Given the description of an element on the screen output the (x, y) to click on. 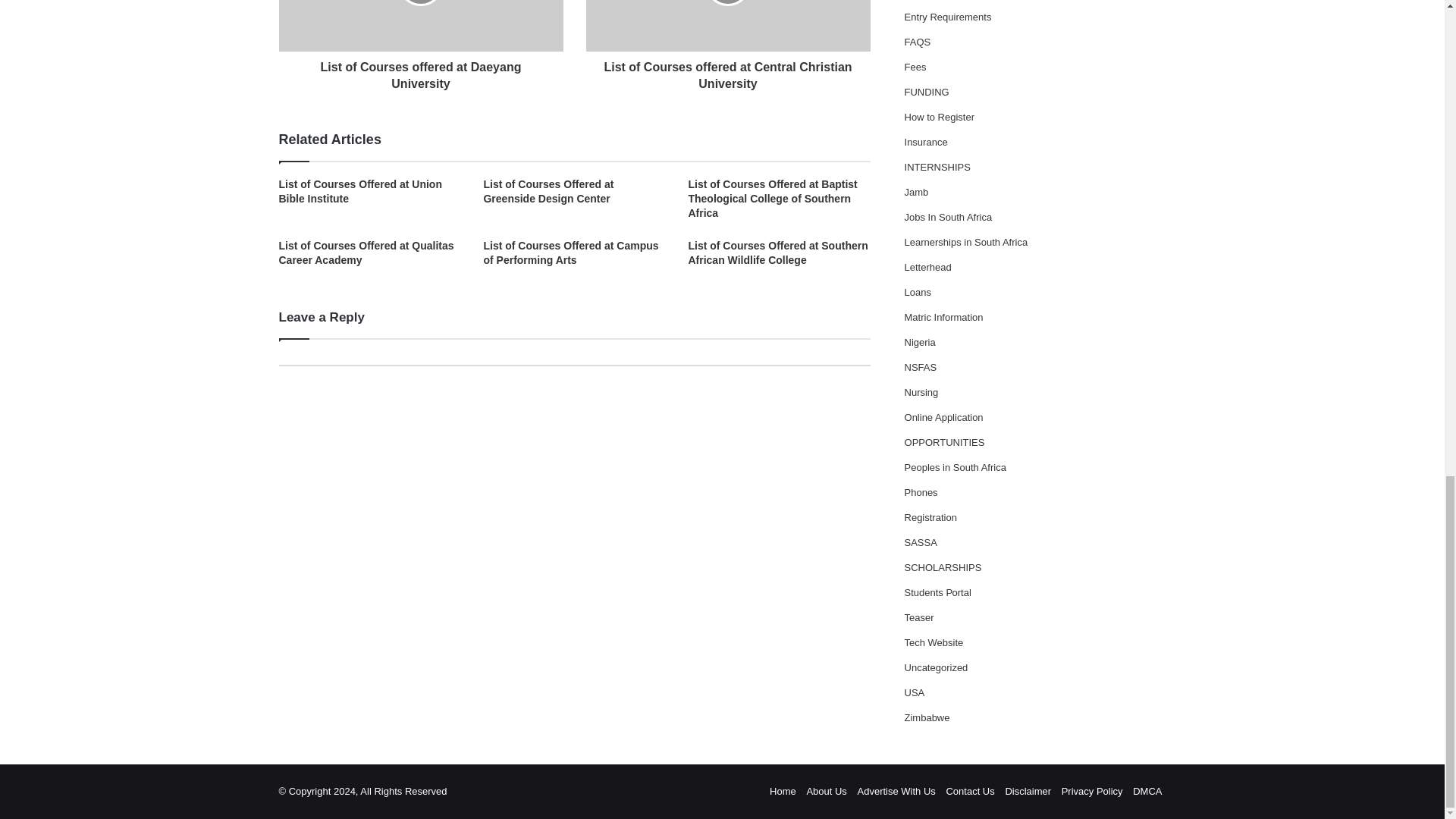
List of Courses offered at Daeyang University (421, 71)
List of Courses Offered at Greenside Design Center (547, 191)
List of Courses Offered at Southern African Wildlife College (777, 252)
List of Courses Offered at Qualitas Career Academy (366, 252)
List of Courses Offered at Campus of Performing Arts (570, 252)
List of Courses Offered at Union Bible Institute (360, 191)
List of Courses offered at Central Christian University (727, 71)
